Given the description of an element on the screen output the (x, y) to click on. 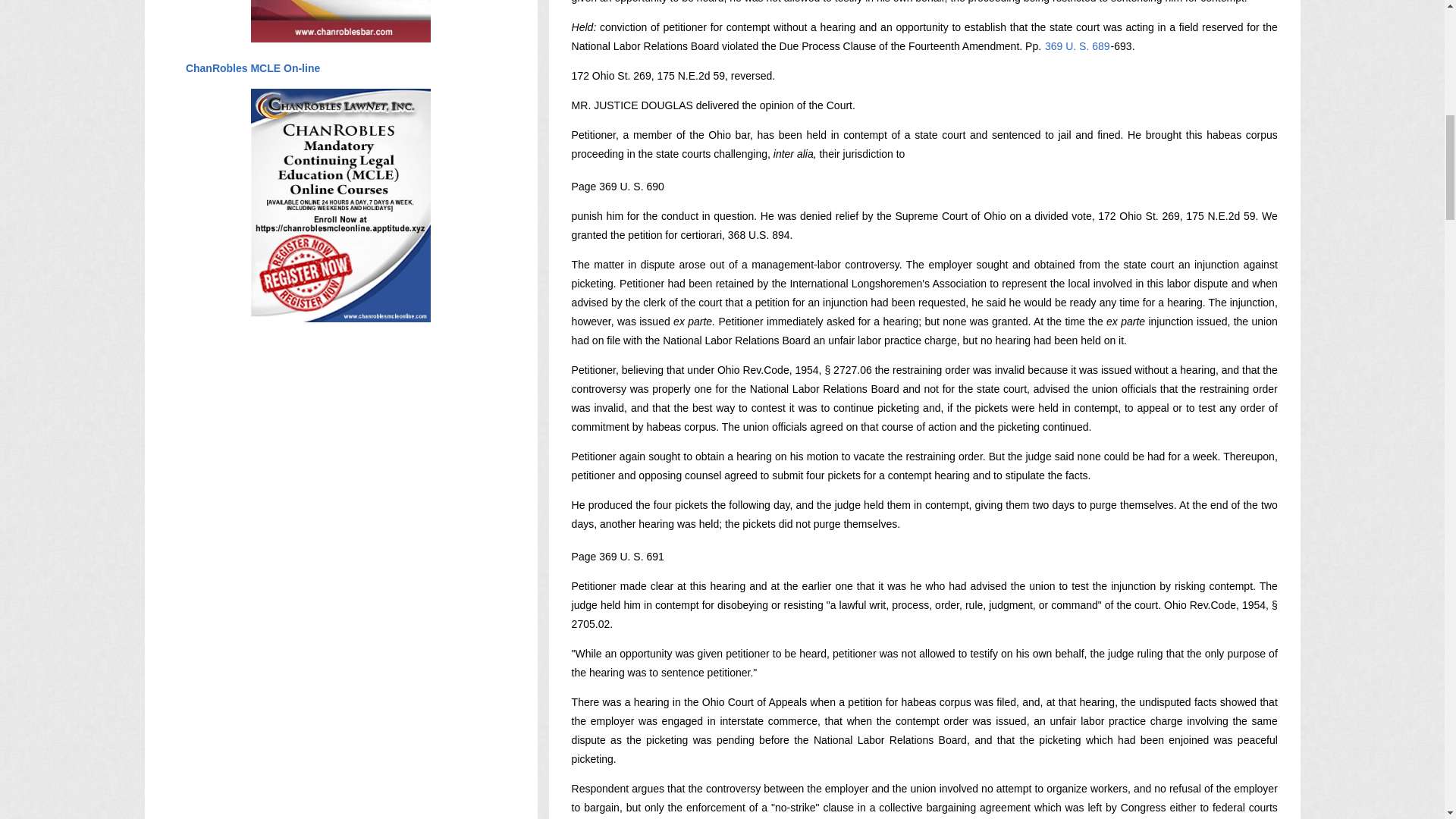
369 U. S. 689 (1076, 46)
Page 369 U. S. 691 (617, 556)
Page 369 U. S. 690 (617, 186)
